Given the description of an element on the screen output the (x, y) to click on. 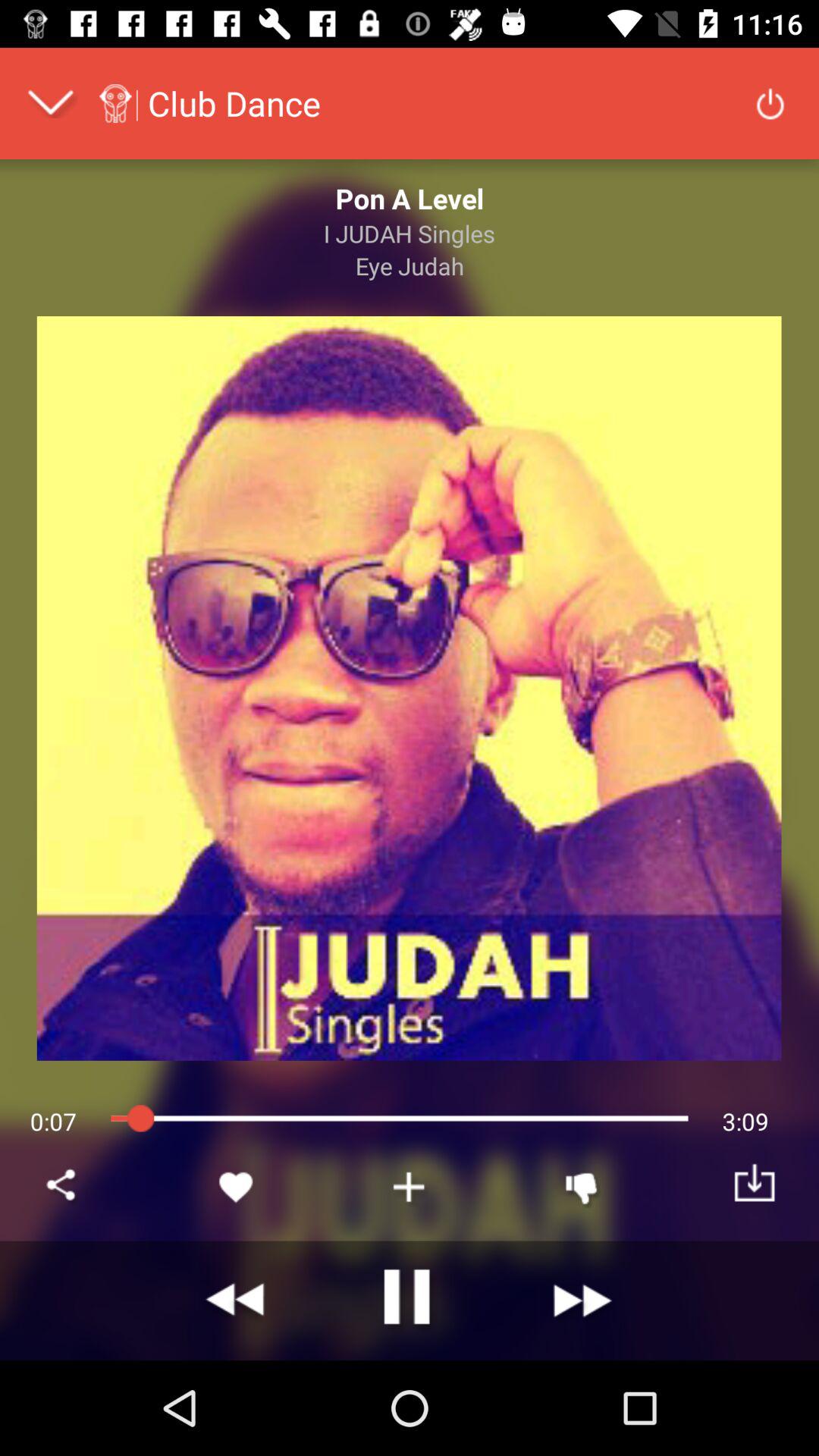
skip backwards (236, 1300)
